Given the description of an element on the screen output the (x, y) to click on. 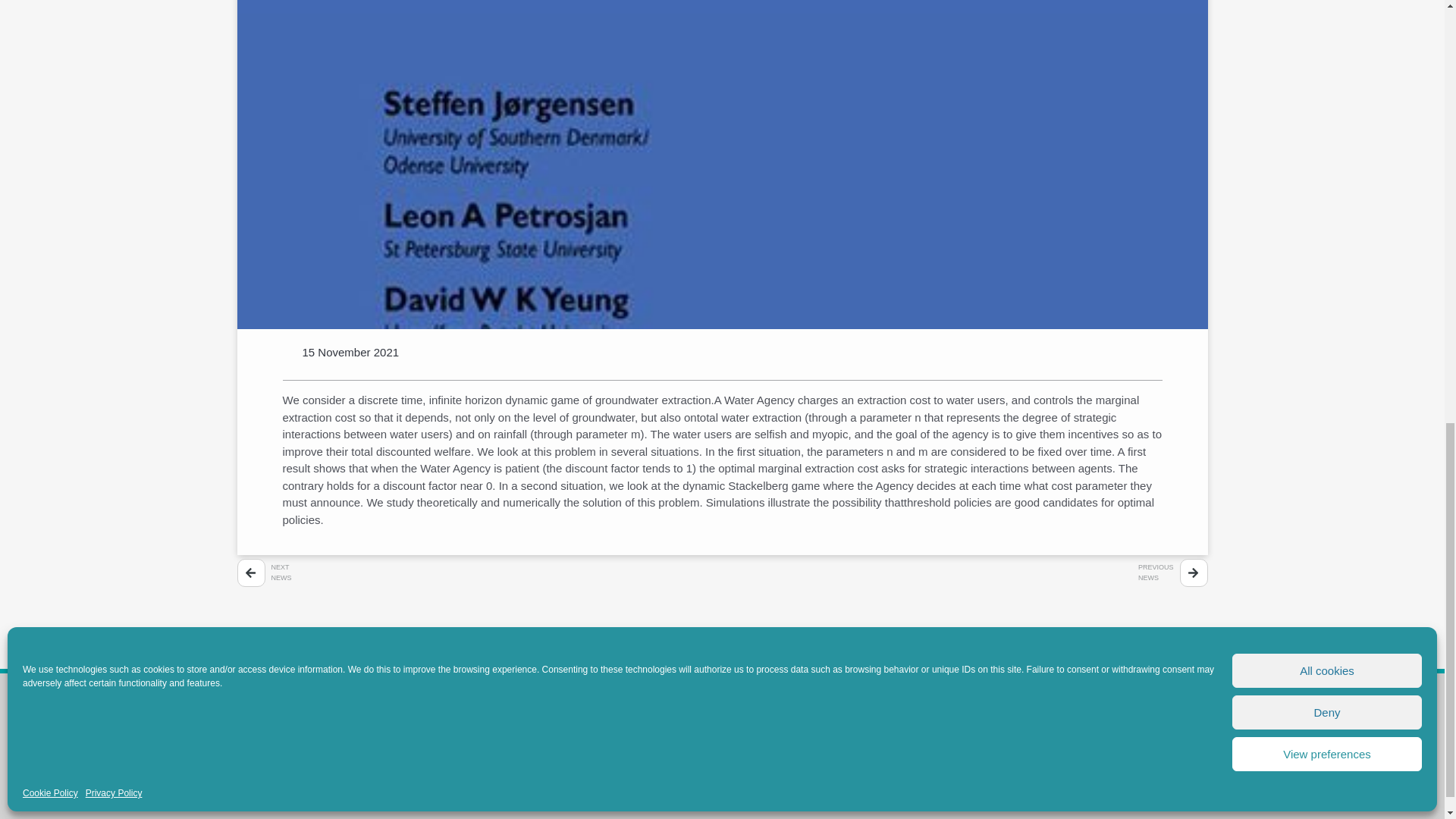
Job offers (781, 731)
Members publications (595, 731)
Partnerships (574, 746)
Promoting an ecologically-innovative agriculture (363, 760)
Managing environmental risks (324, 776)
Job market (784, 746)
Towards effective and equitable environmental governance (387, 746)
Consultancy and training (601, 776)
Research projects (587, 760)
Preservation of natural resources and biodiversity (367, 731)
